Given the description of an element on the screen output the (x, y) to click on. 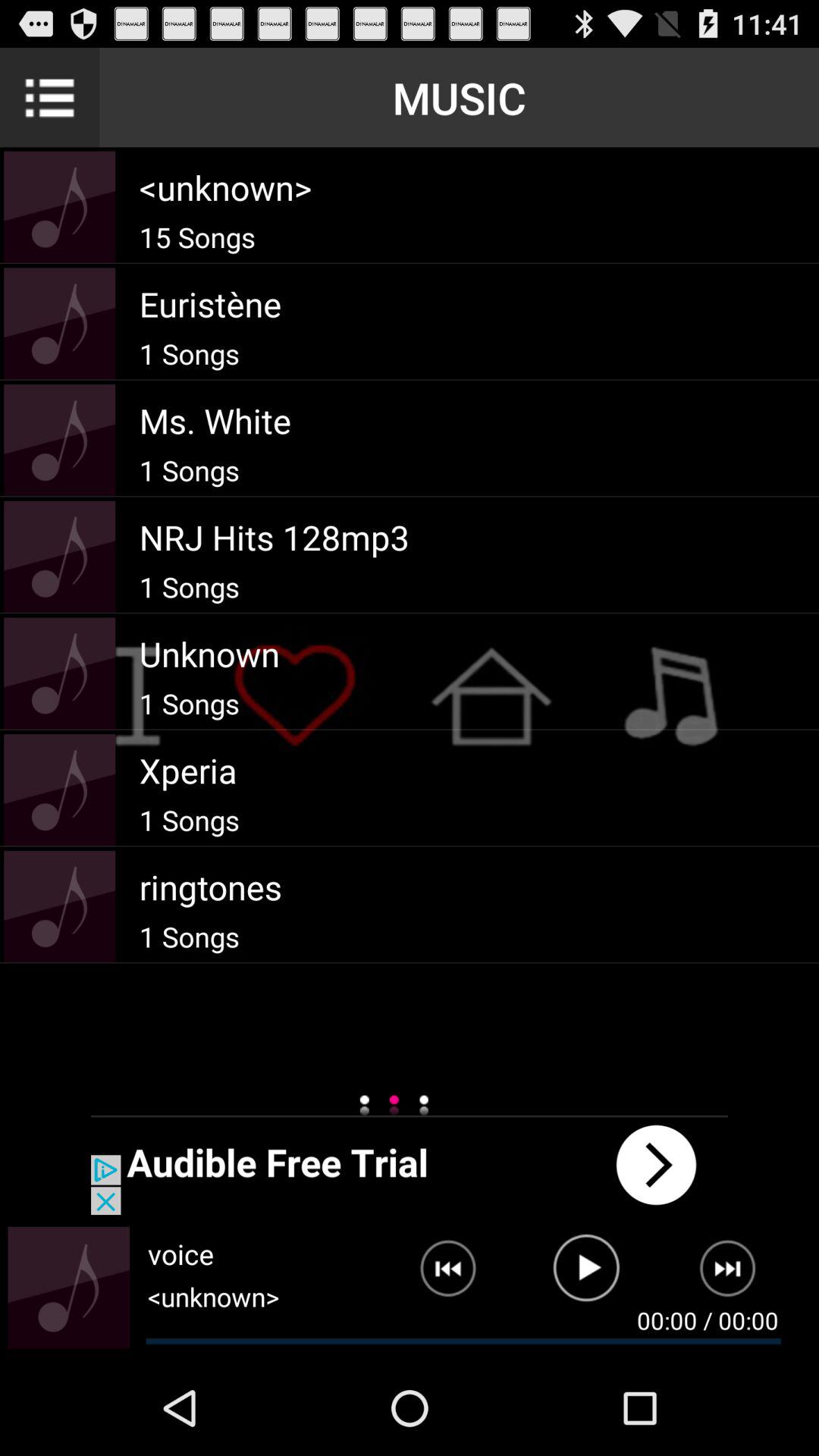
advertisement page (409, 1164)
